Given the description of an element on the screen output the (x, y) to click on. 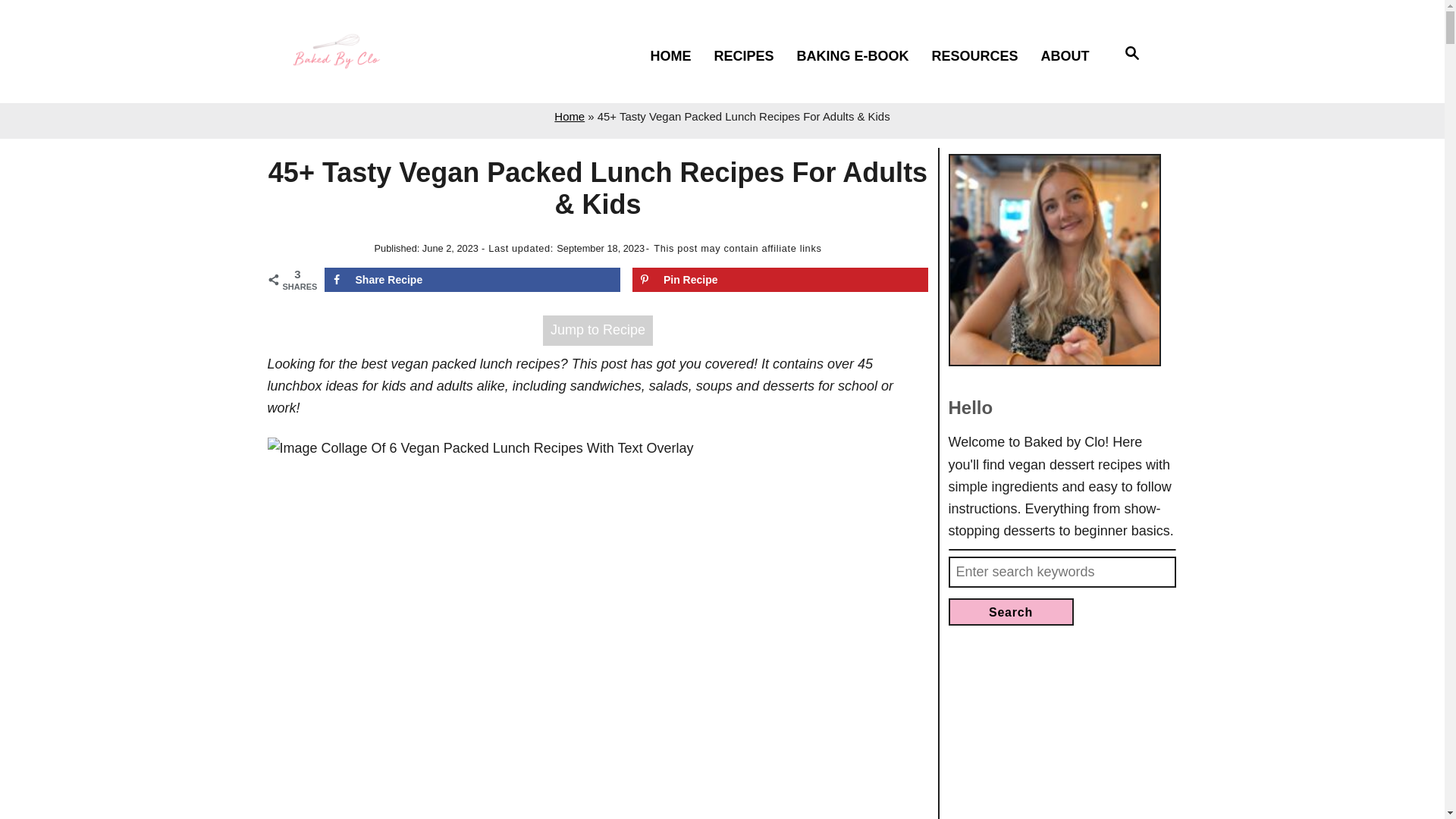
Jump to Recipe (597, 329)
BAKING E-BOOK (859, 55)
Search (1010, 611)
Pin Recipe (779, 279)
Search (1010, 611)
Search (1132, 54)
Share on Facebook (472, 279)
Share Recipe (472, 279)
Home (569, 115)
RECIPES (750, 55)
HOME (677, 55)
ABOUT (1070, 55)
RESOURCES (980, 55)
Save to Pinterest (779, 279)
